Given the description of an element on the screen output the (x, y) to click on. 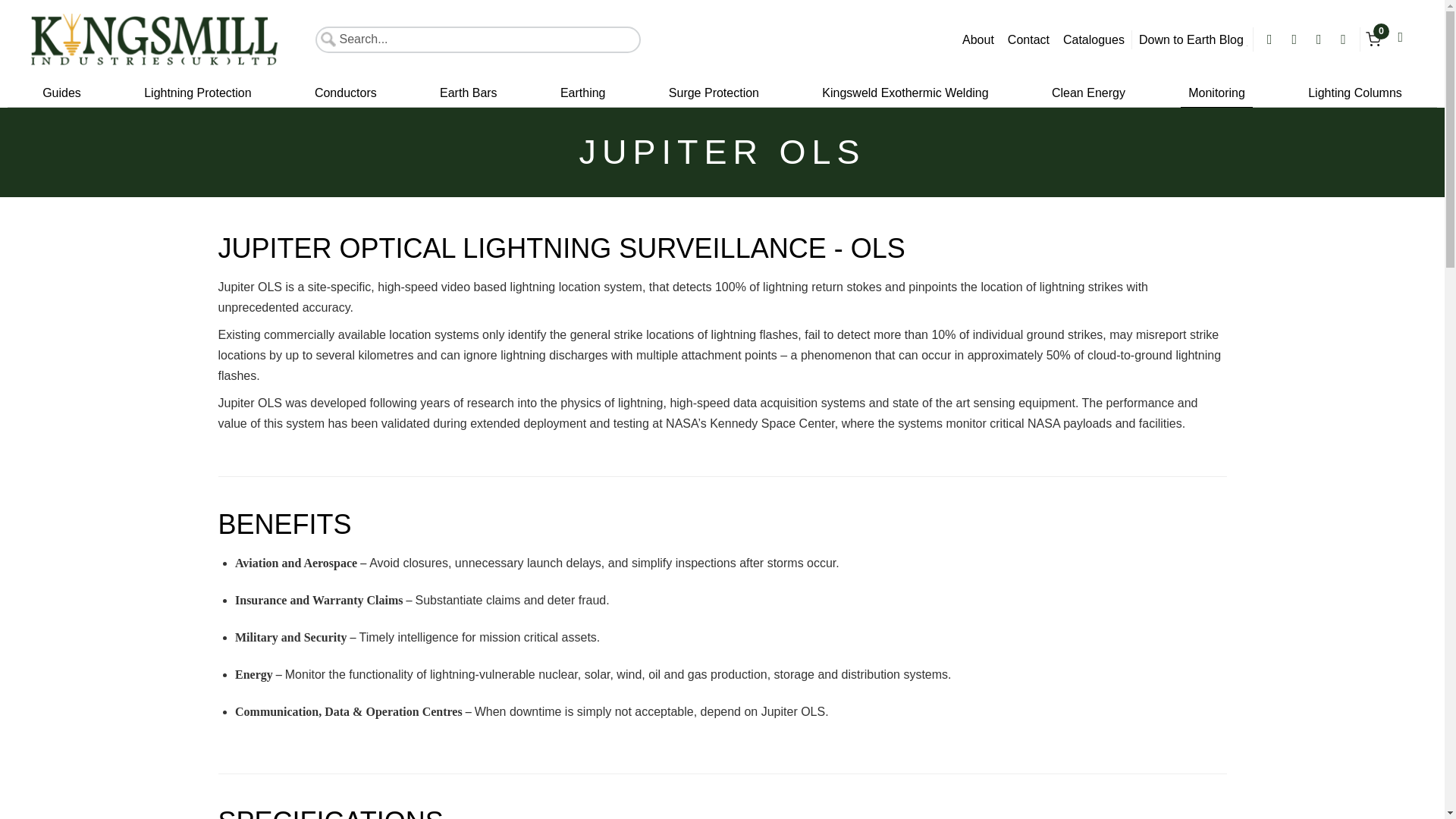
Contact (1028, 39)
Catalogues (1093, 39)
Down to Earth Blog (1192, 39)
About (978, 39)
